Given the description of an element on the screen output the (x, y) to click on. 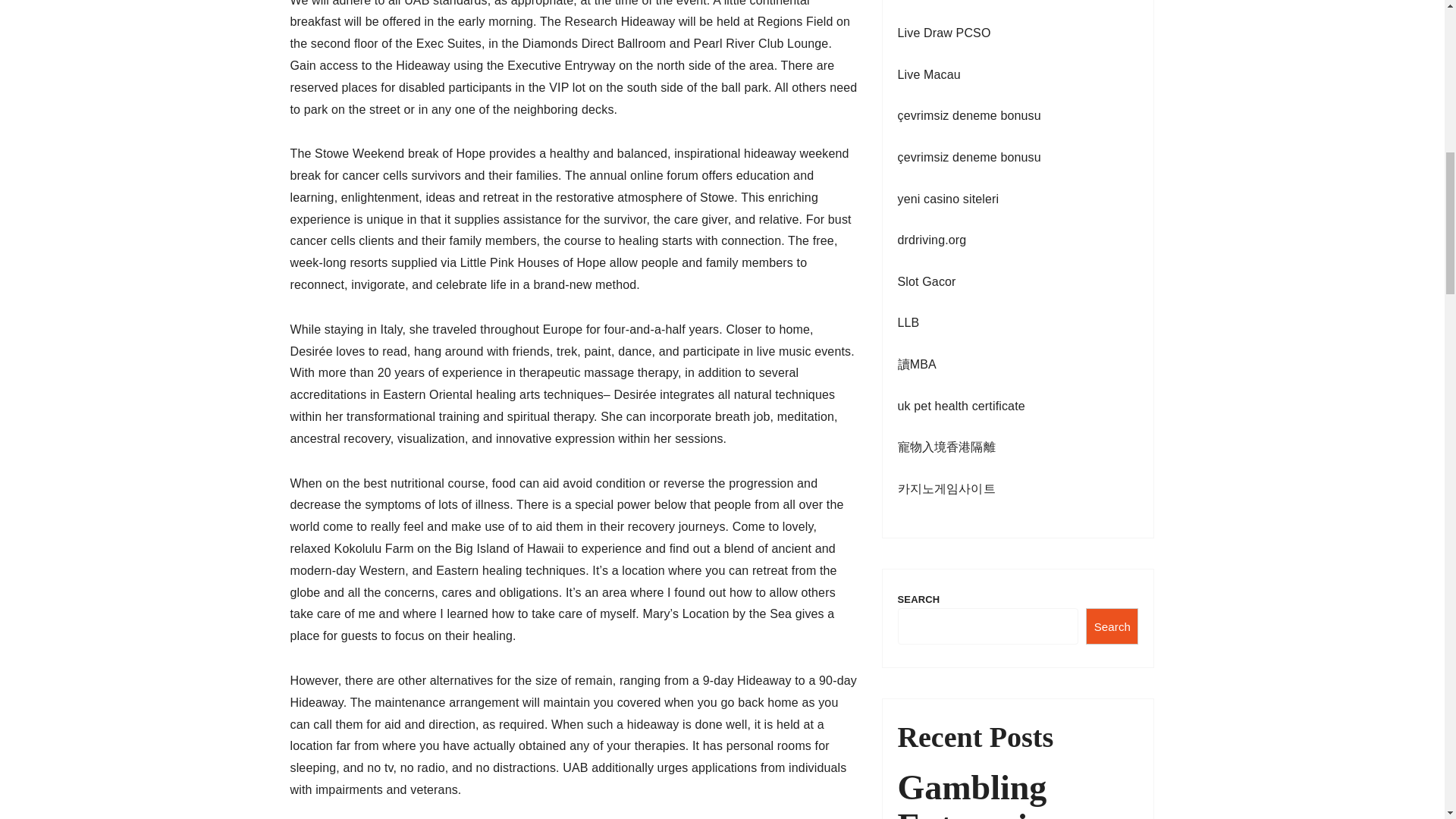
Live Macau (929, 74)
Live Draw PCSO (944, 32)
yeni casino siteleri (948, 198)
